Given the description of an element on the screen output the (x, y) to click on. 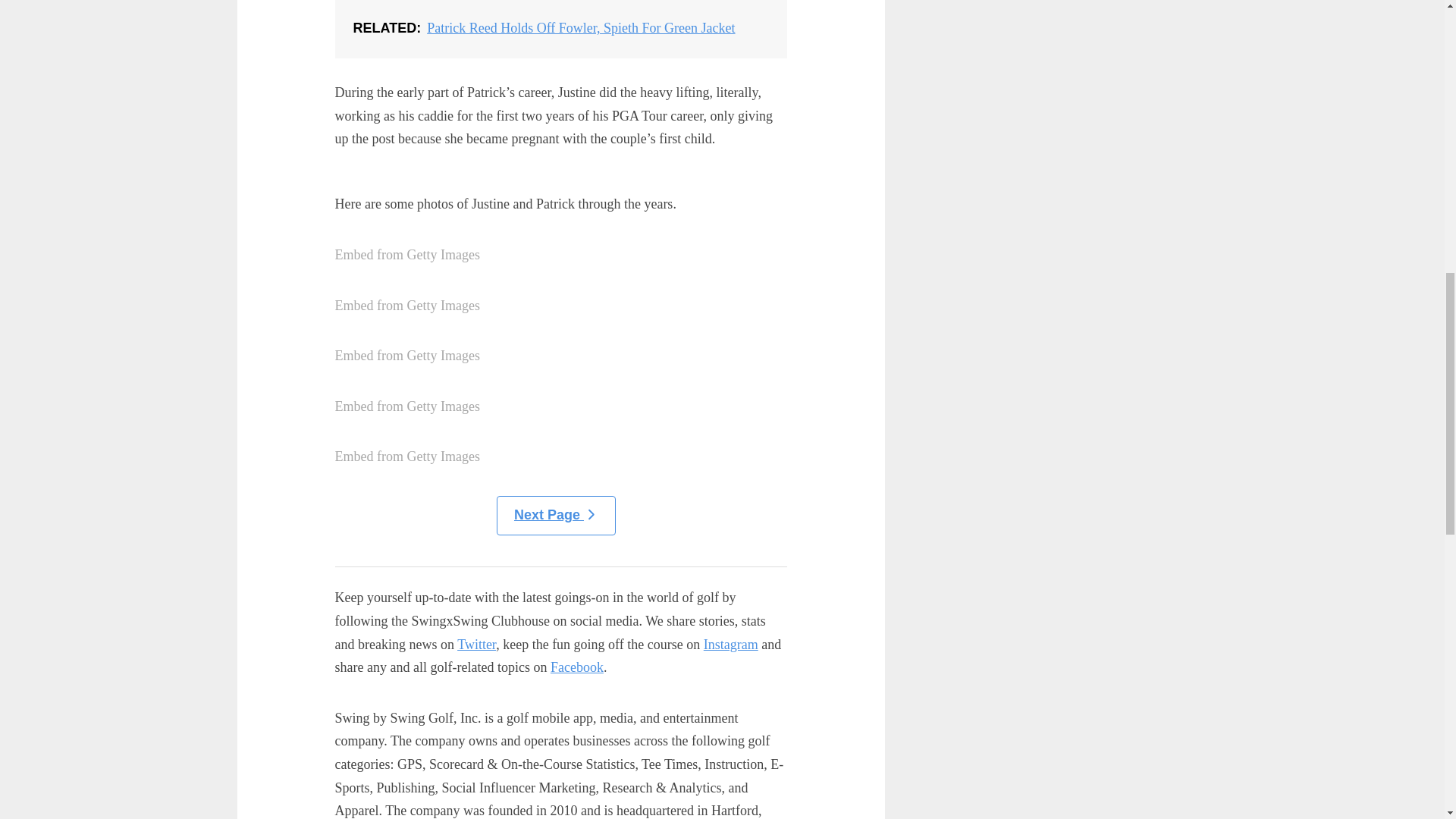
Instagram (730, 644)
Embed from Getty Images (407, 406)
Patrick Reed Holds Off Fowler, Spieth For Green Jacket (560, 29)
Embed from Getty Images (407, 456)
Facebook (577, 667)
Embed from Getty Images (407, 254)
Embed from Getty Images (407, 305)
Embed from Getty Images (407, 355)
Twitter (476, 644)
